Given the description of an element on the screen output the (x, y) to click on. 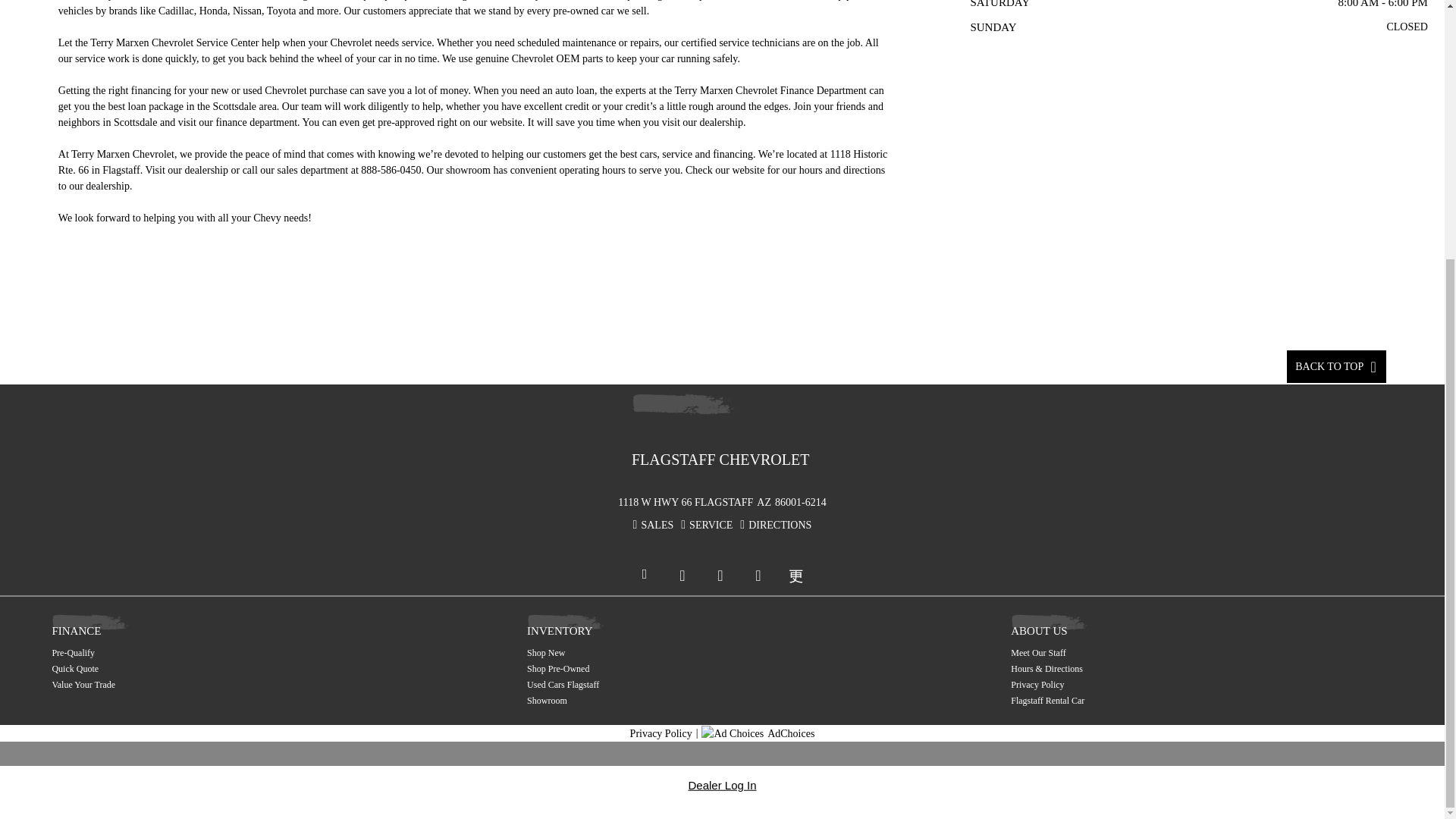
Model Showroom (640, 700)
Shop Pre-Owned (640, 668)
Flagstaff Rental Car (1124, 700)
Finance Pre-Qualification Form (164, 653)
Used Cars Flagstaff (640, 684)
Privacy Policy (1124, 684)
Value Your Trade (164, 684)
Get a Quick Quote (164, 668)
Meet Our Staff (1124, 653)
Back to Top (1336, 366)
Shop New (640, 653)
